Given the description of an element on the screen output the (x, y) to click on. 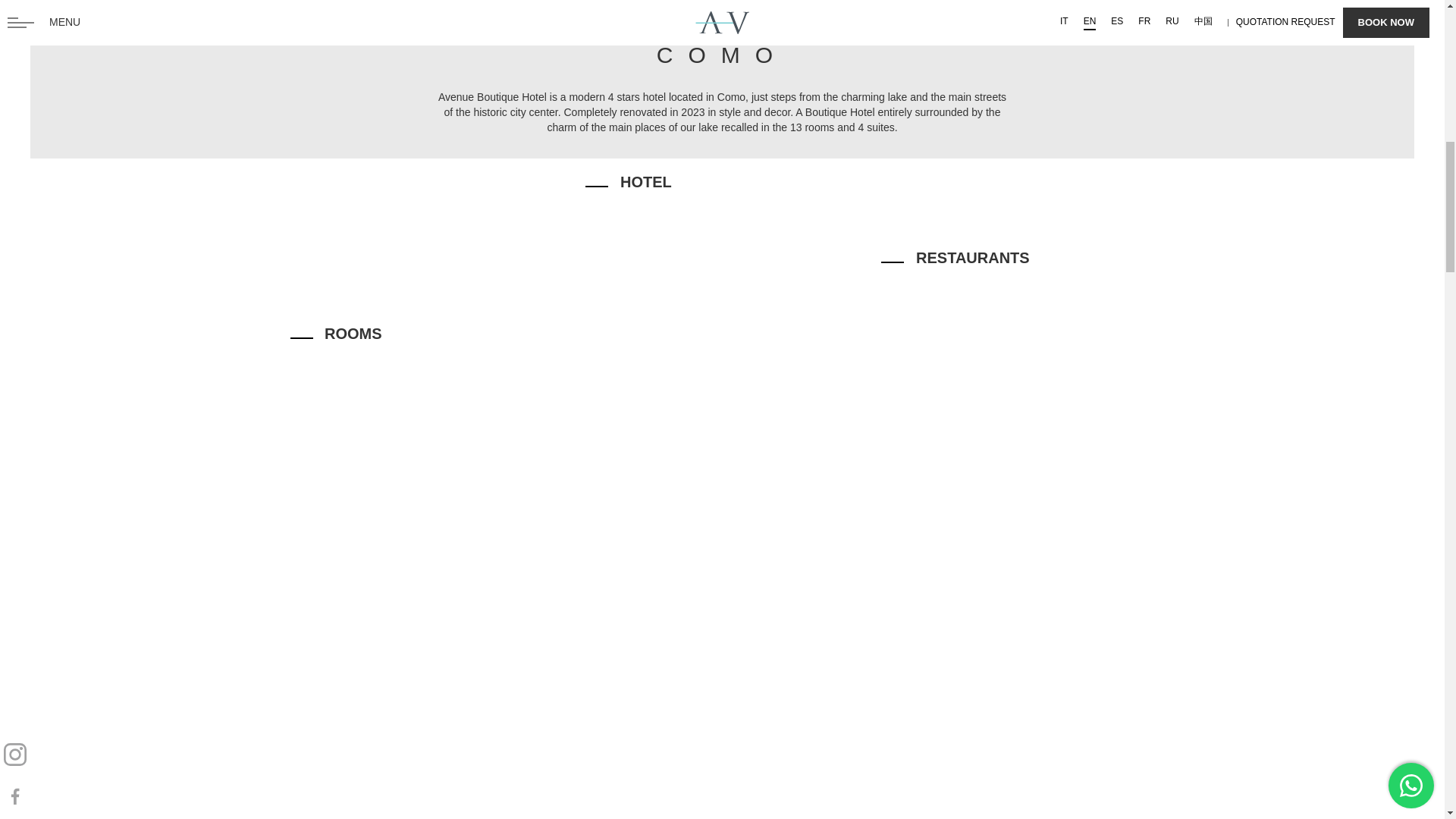
Book now (1298, 768)
